Given the description of an element on the screen output the (x, y) to click on. 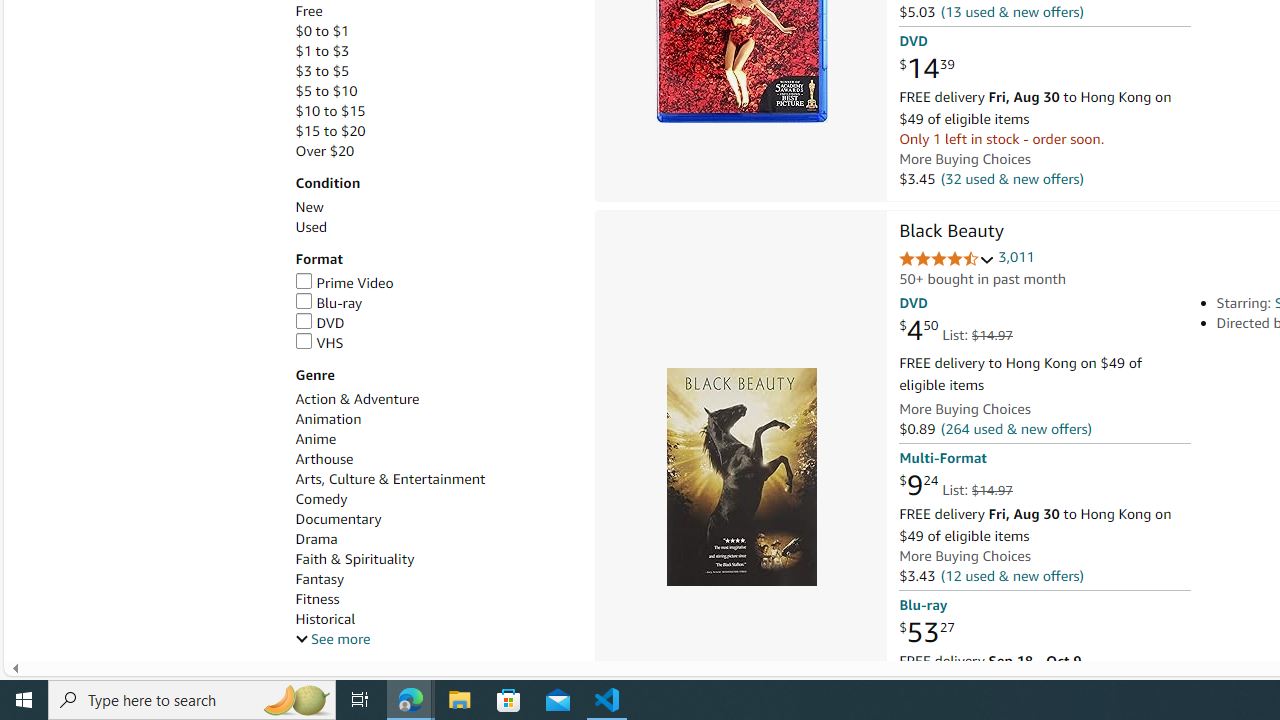
4.7 out of 5 stars (946, 259)
$15 to $20 (330, 131)
Blu-ray (434, 303)
(264 used & new offers) (1015, 429)
Free (434, 11)
Faith & Spirituality (354, 559)
Arts, Culture & Entertainment (434, 479)
DVD (319, 322)
VHS (319, 342)
$0 to $1 (321, 31)
$3 to $5 (321, 70)
Black Beauty (951, 232)
Drama (434, 539)
Drama (315, 538)
